Given the description of an element on the screen output the (x, y) to click on. 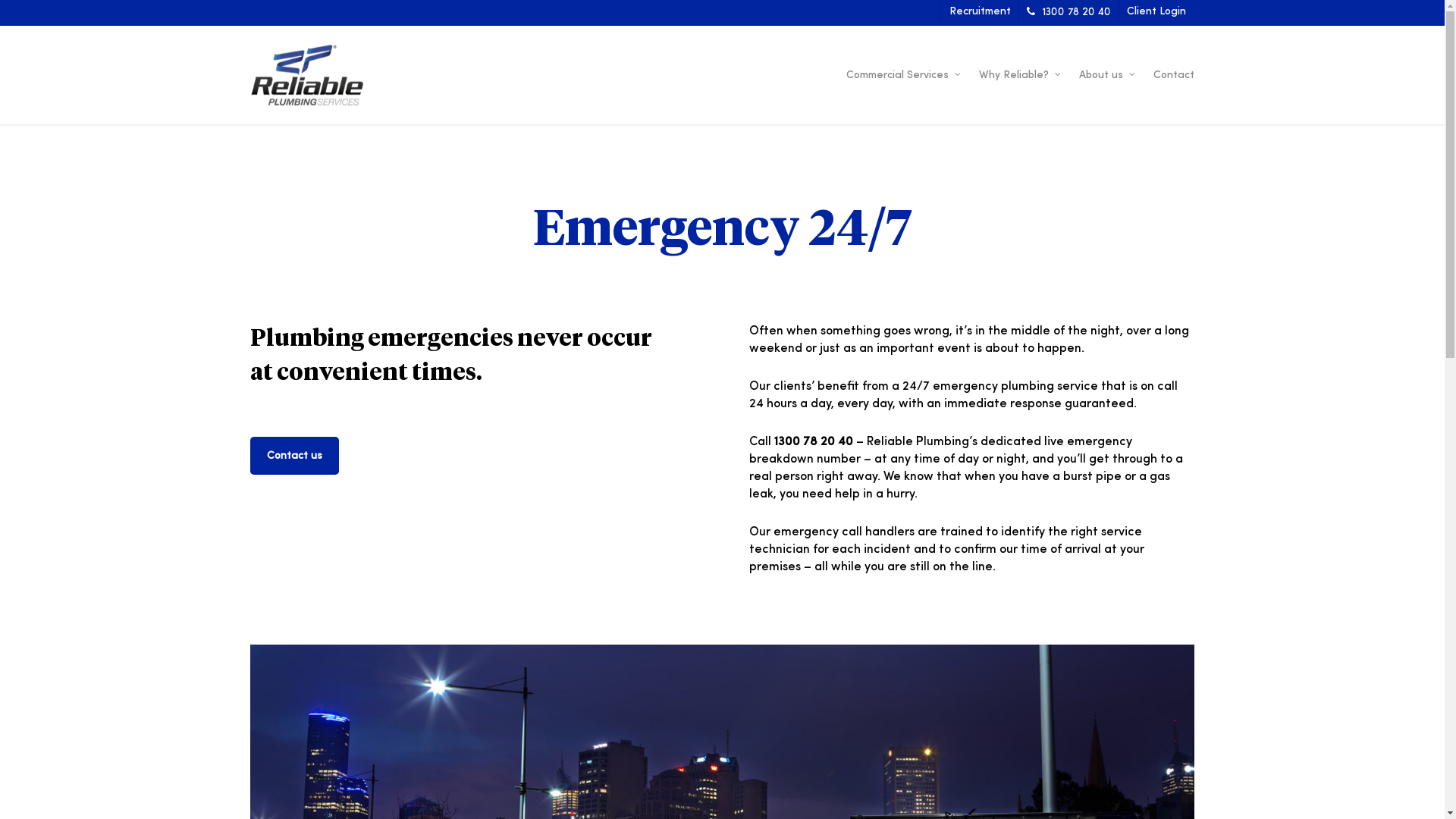
Why Reliable? Element type: text (1021, 74)
Recruitment Element type: text (979, 11)
Contact Element type: text (1173, 74)
1300 78 20 40 Element type: text (1068, 12)
Contact us Element type: text (294, 455)
About us Element type: text (1108, 74)
Commercial Services Element type: text (904, 74)
Client Login Element type: text (1155, 11)
